Given the description of an element on the screen output the (x, y) to click on. 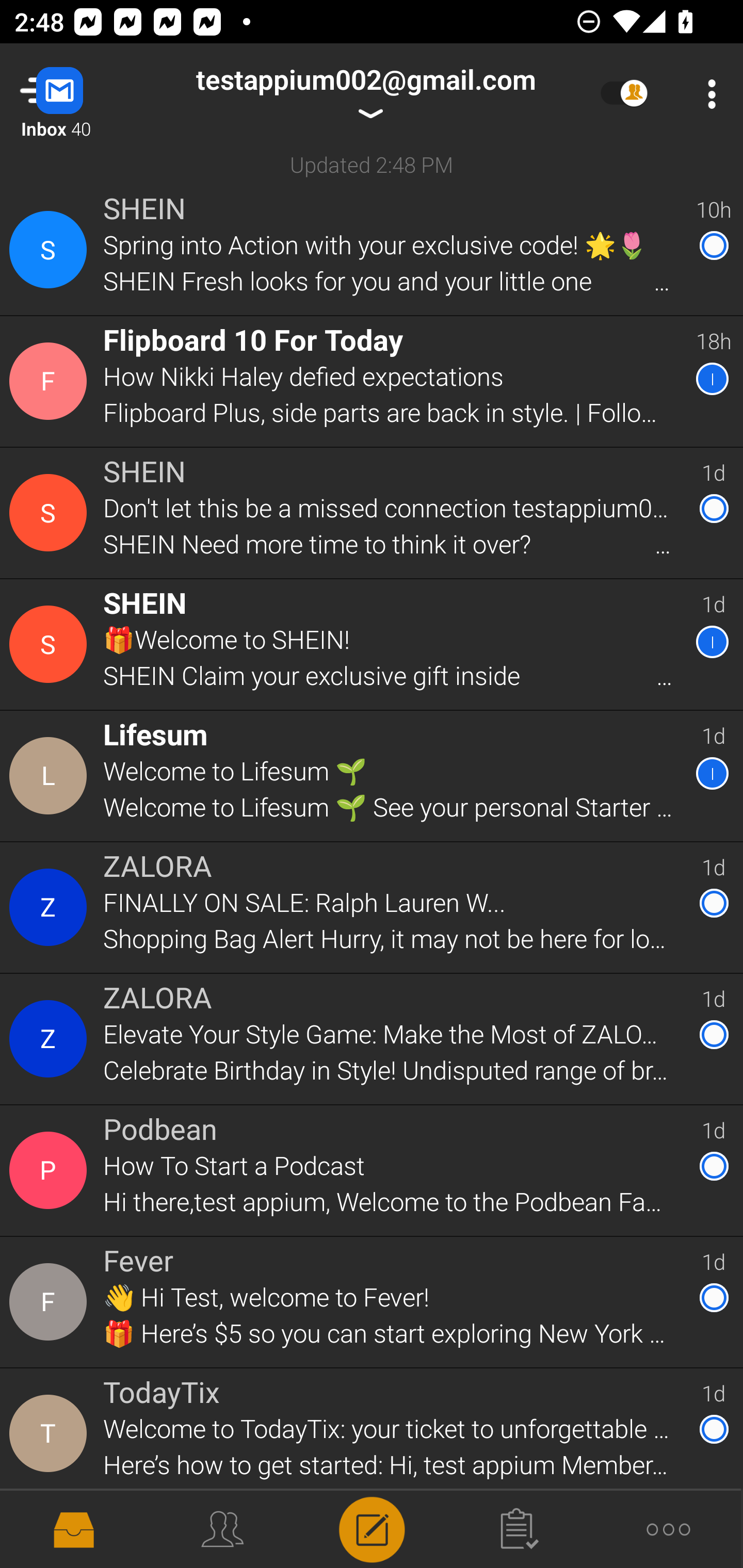
Navigate up (81, 93)
testappium002@gmail.com (365, 93)
More Options (706, 93)
Updated 2:48 PM (371, 164)
Contact Details (50, 250)
Contact Details (50, 381)
Contact Details (50, 513)
Contact Details (50, 644)
Contact Details (50, 776)
Contact Details (50, 907)
Contact Details (50, 1038)
Contact Details (50, 1170)
Contact Details (50, 1302)
Contact Details (50, 1433)
